Given the description of an element on the screen output the (x, y) to click on. 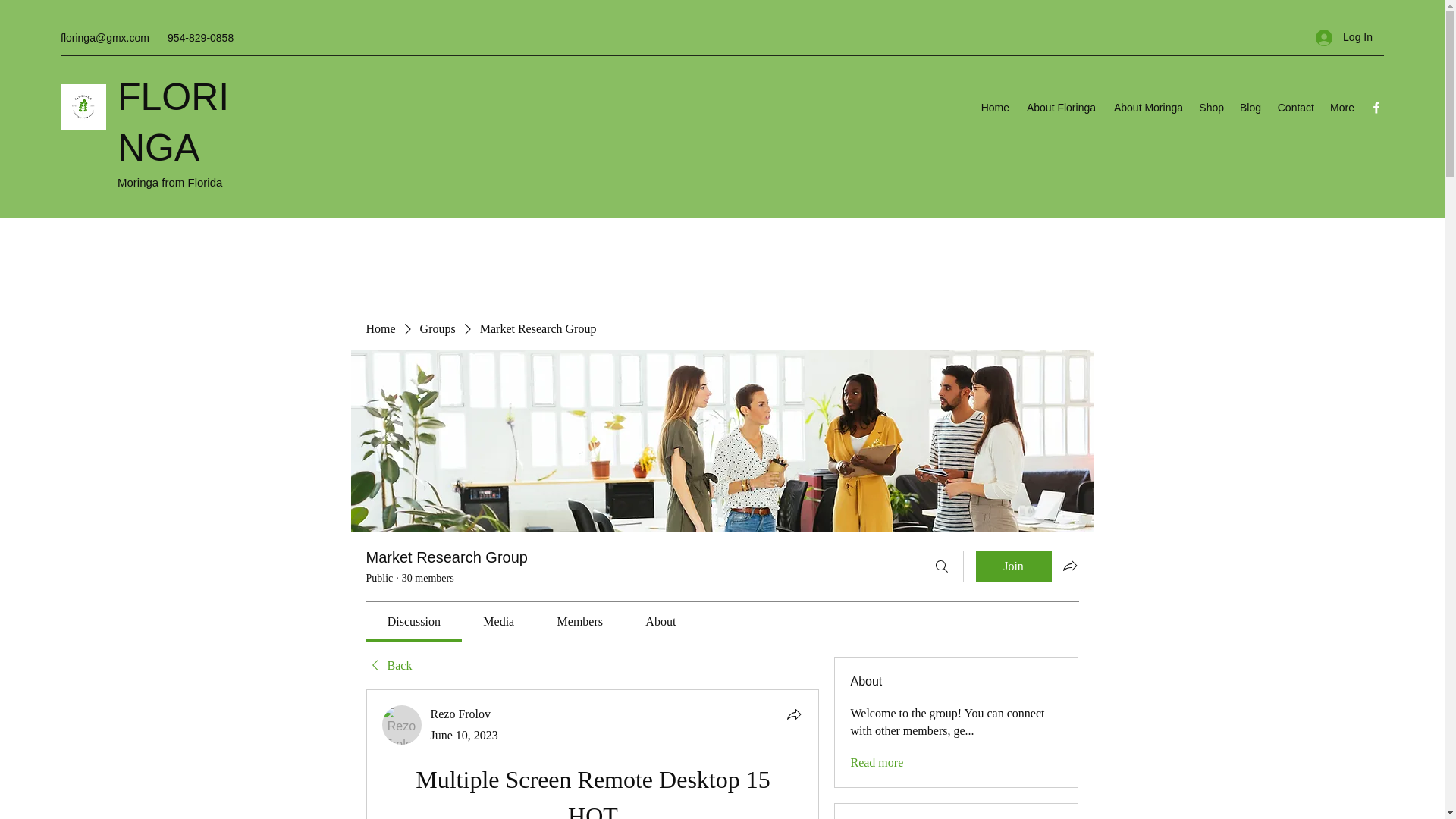
About Floringa (1059, 107)
Home (379, 329)
Groups (437, 329)
Join (1013, 566)
Back (388, 665)
Read more (876, 762)
Blog (1249, 107)
Shop (1211, 107)
Rezo Frolov (401, 724)
Contact (1295, 107)
